Given the description of an element on the screen output the (x, y) to click on. 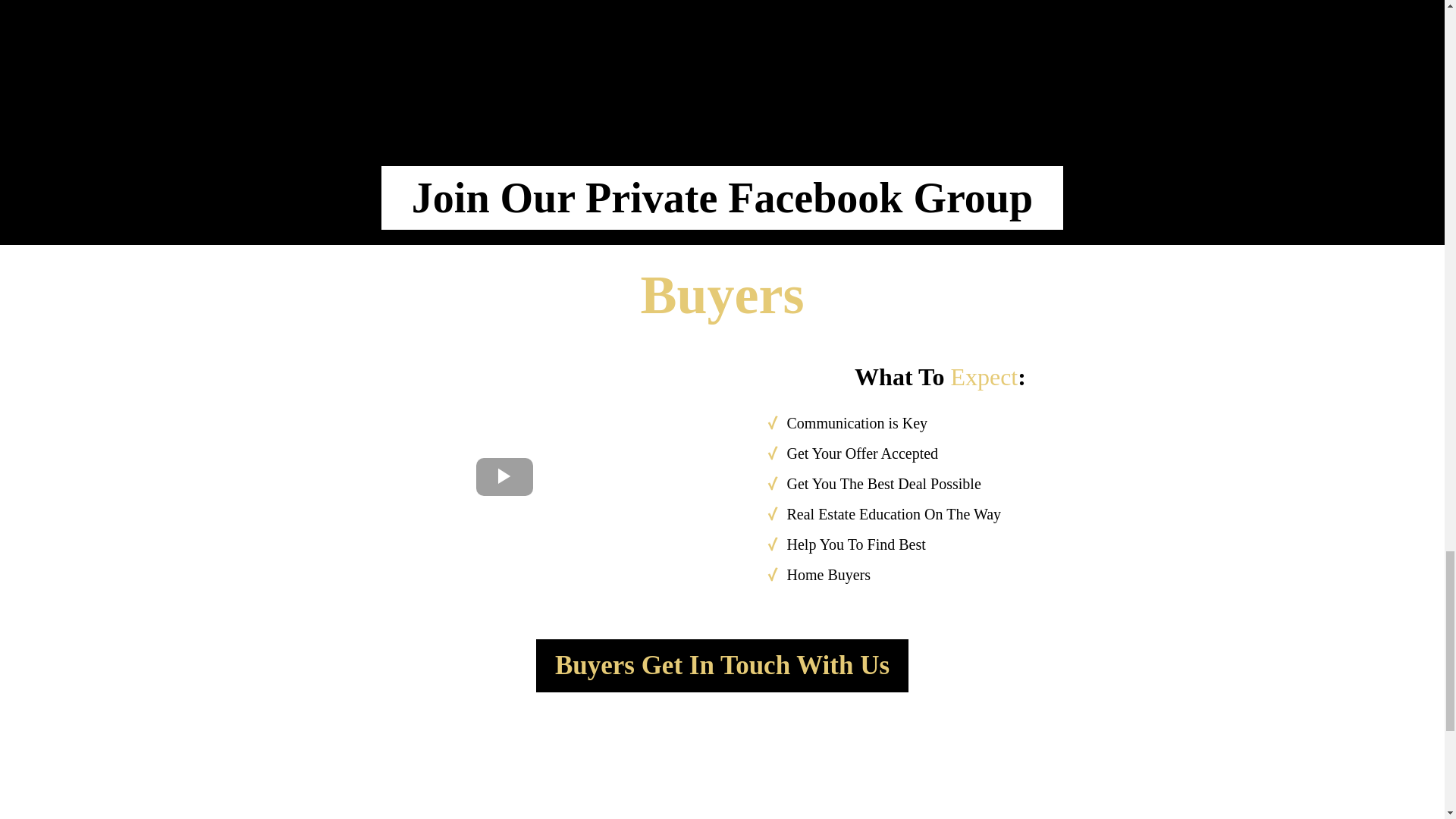
Buyers Get In Touch With Us (721, 665)
Join Our Private Facebook Group (721, 198)
